Given the description of an element on the screen output the (x, y) to click on. 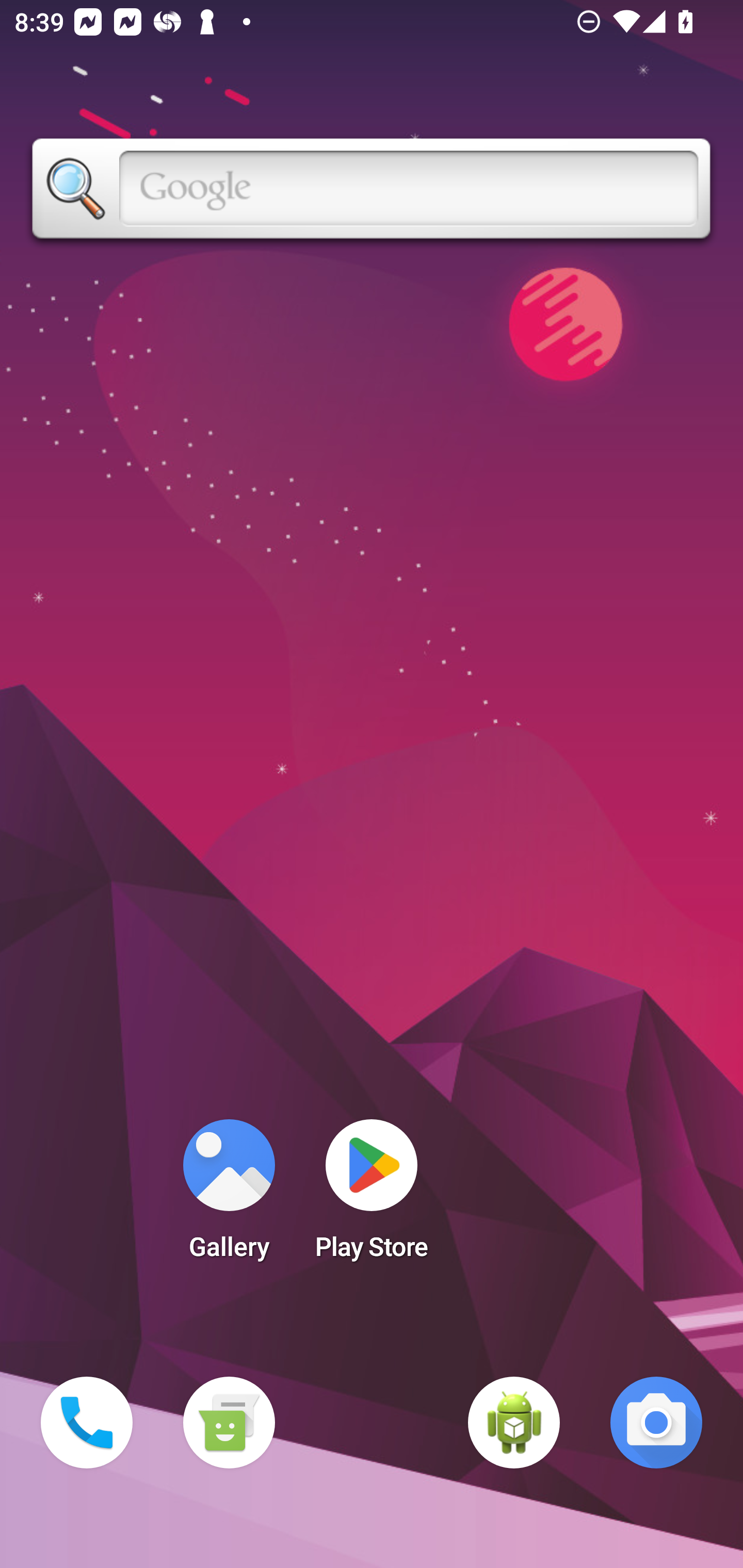
Gallery (228, 1195)
Play Store (371, 1195)
Phone (86, 1422)
Messaging (228, 1422)
WebView Browser Tester (513, 1422)
Camera (656, 1422)
